Given the description of an element on the screen output the (x, y) to click on. 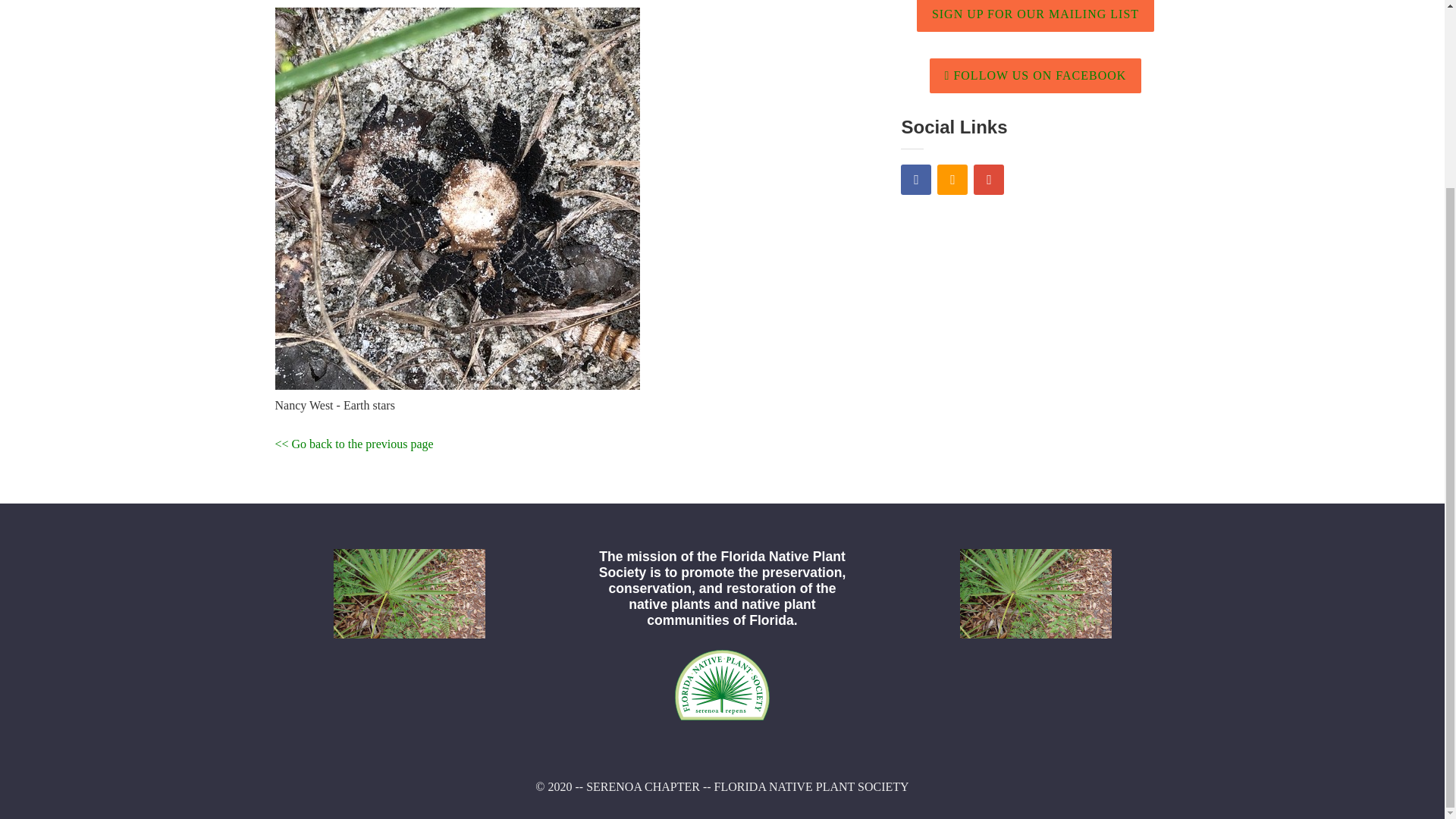
FOLLOW US ON FACEBOOK (1035, 75)
FNPS (722, 721)
SIGN UP FOR OUR MAILING LIST (1035, 15)
